Given the description of an element on the screen output the (x, y) to click on. 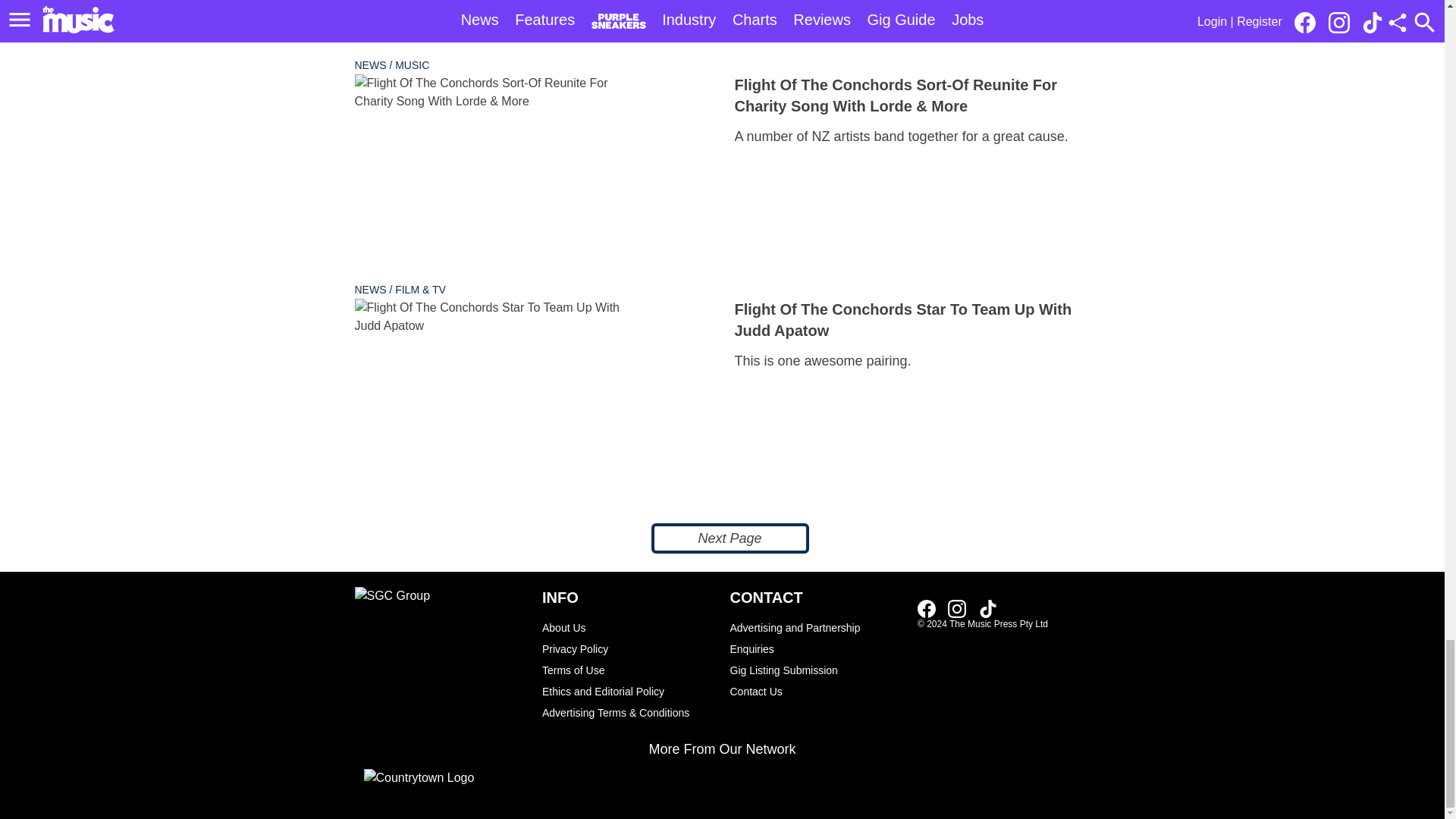
Link to our Instagram (956, 608)
Next Page (729, 538)
Link to our Facebook (926, 608)
Link to our TikTok (987, 608)
